Given the description of an element on the screen output the (x, y) to click on. 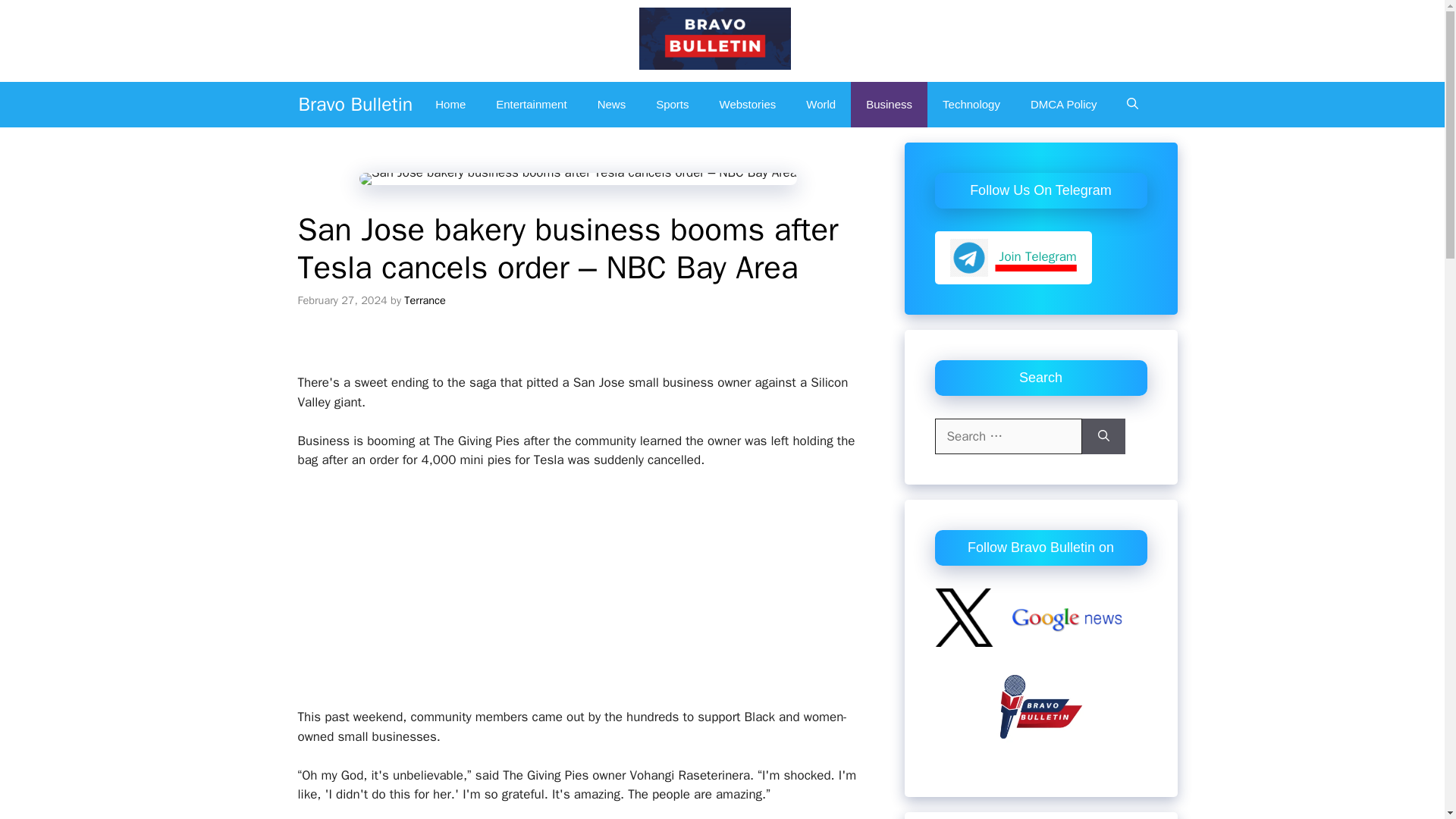
World (820, 104)
Terrance (424, 299)
Technology (970, 104)
View all posts by Terrance (424, 299)
Search for: (1007, 436)
Home (450, 104)
Entertainment (530, 104)
News (612, 104)
Webstories (748, 104)
Sports (671, 104)
